Given the description of an element on the screen output the (x, y) to click on. 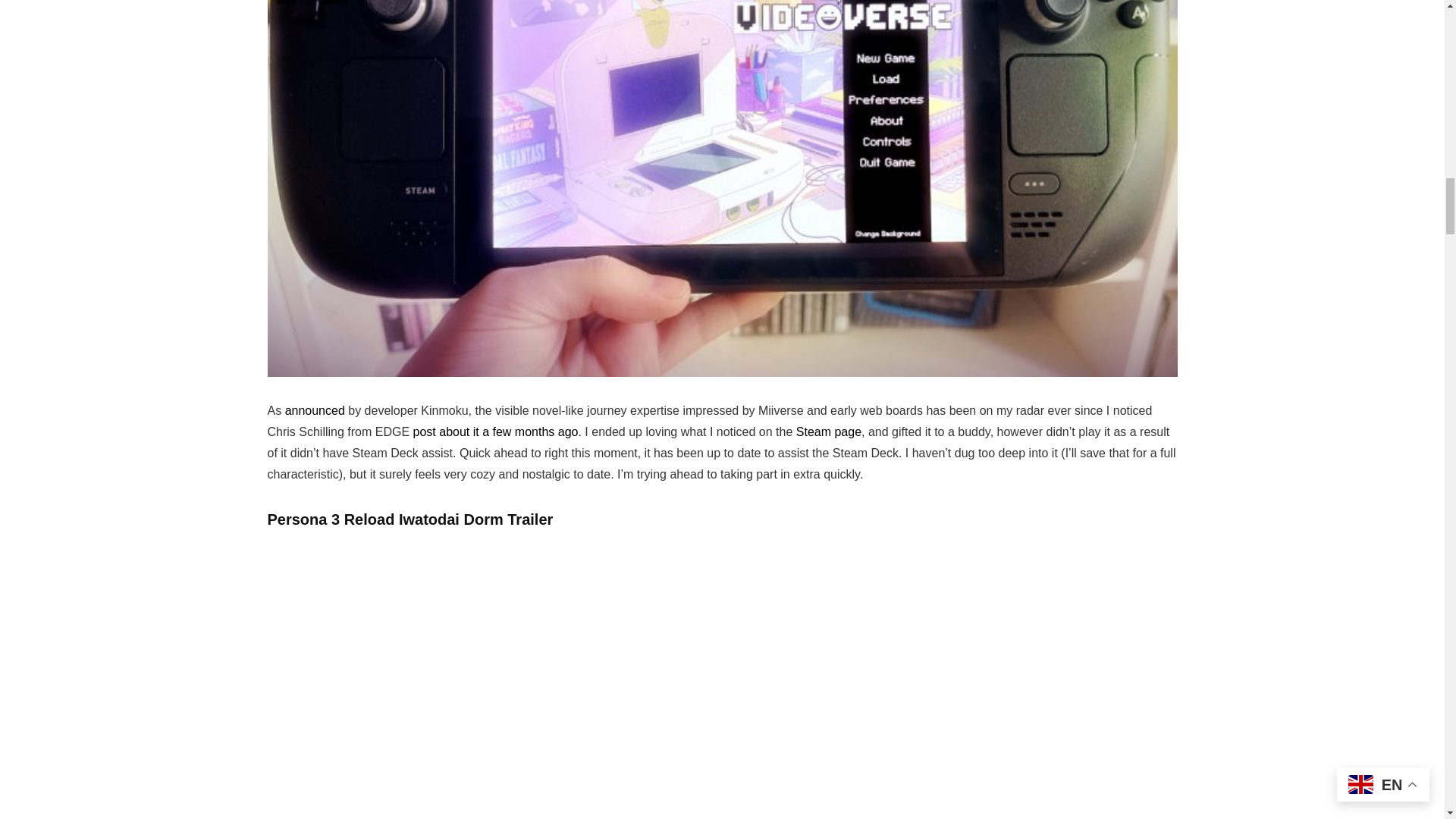
Steam page (828, 431)
announced (315, 410)
post about it a few months ago (495, 431)
